Given the description of an element on the screen output the (x, y) to click on. 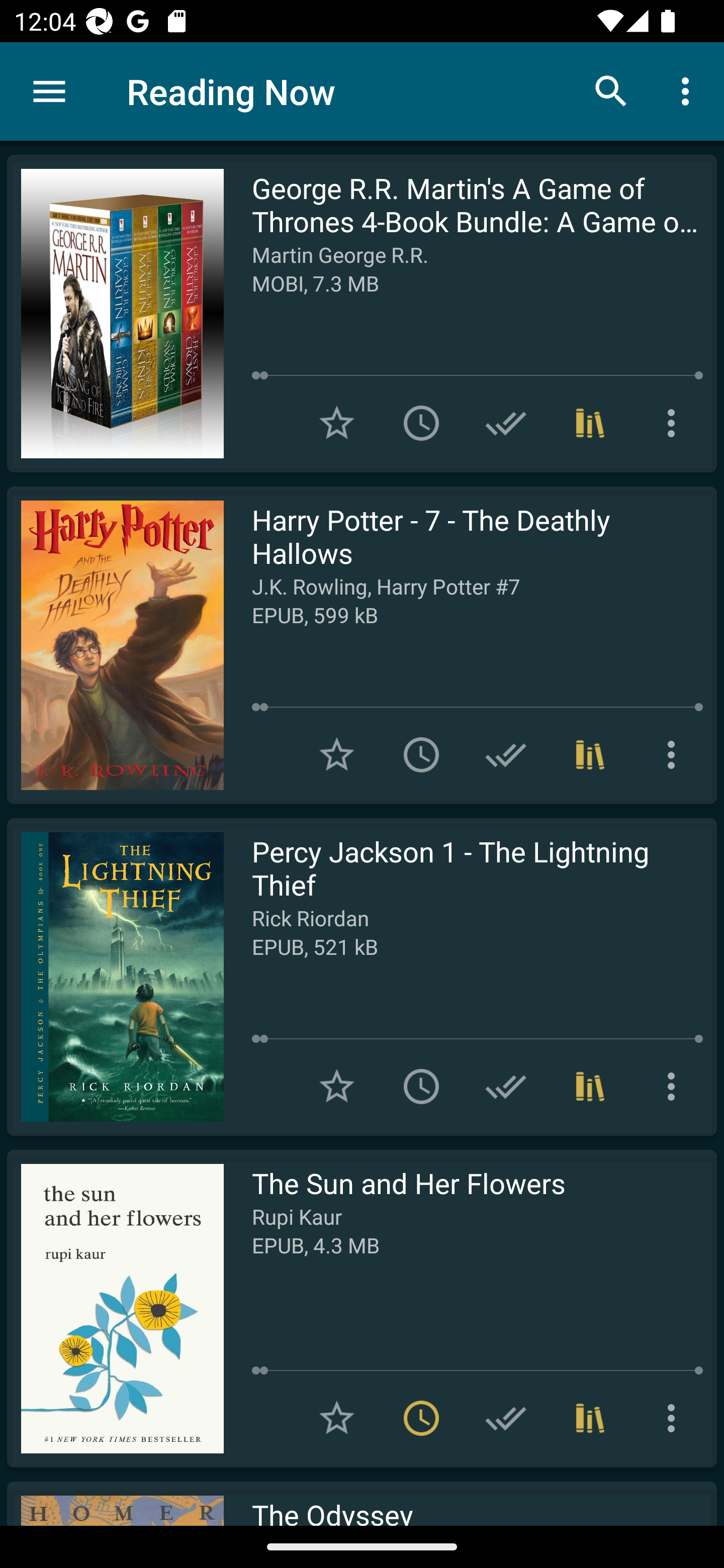
Menu (49, 91)
Search books & documents (611, 90)
More options (688, 90)
Add to Favorites (336, 423)
Add to To read (421, 423)
Add to Have read (505, 423)
Collections (1) (590, 423)
More options (674, 423)
Read Harry Potter - 7 - The Deathly Hallows (115, 645)
Add to Favorites (336, 753)
Add to To read (421, 753)
Add to Have read (505, 753)
Collections (1) (590, 753)
More options (674, 753)
Read Percy Jackson 1 - The Lightning Thief (115, 976)
Add to Favorites (336, 1086)
Add to To read (421, 1086)
Add to Have read (505, 1086)
Collections (1) (590, 1086)
More options (674, 1086)
Read The Sun and Her Flowers (115, 1308)
Add to Favorites (336, 1417)
Remove from To read (421, 1417)
Add to Have read (505, 1417)
Collections (1) (590, 1417)
More options (674, 1417)
